Given the description of an element on the screen output the (x, y) to click on. 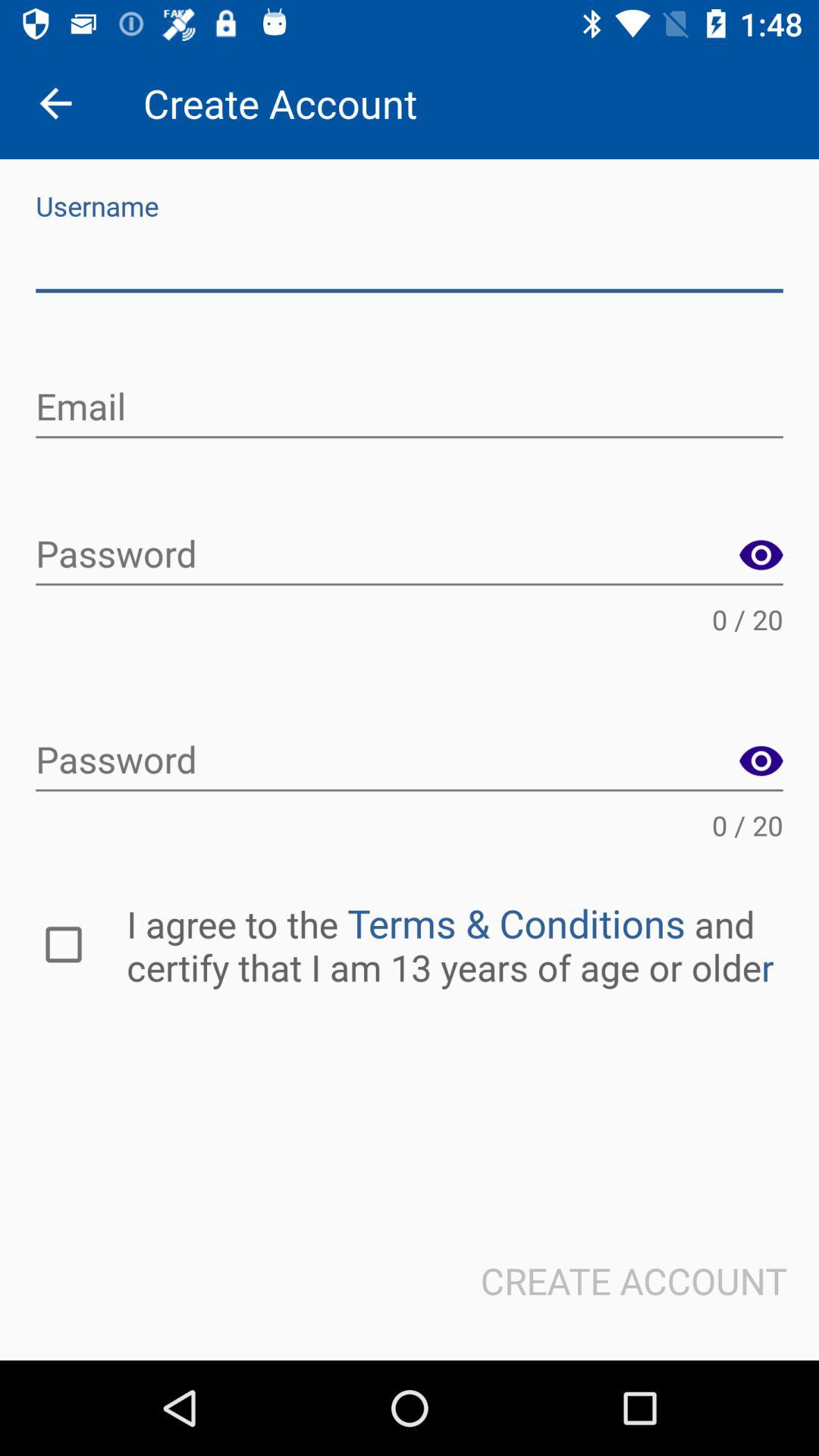
unmask password (761, 761)
